Given the description of an element on the screen output the (x, y) to click on. 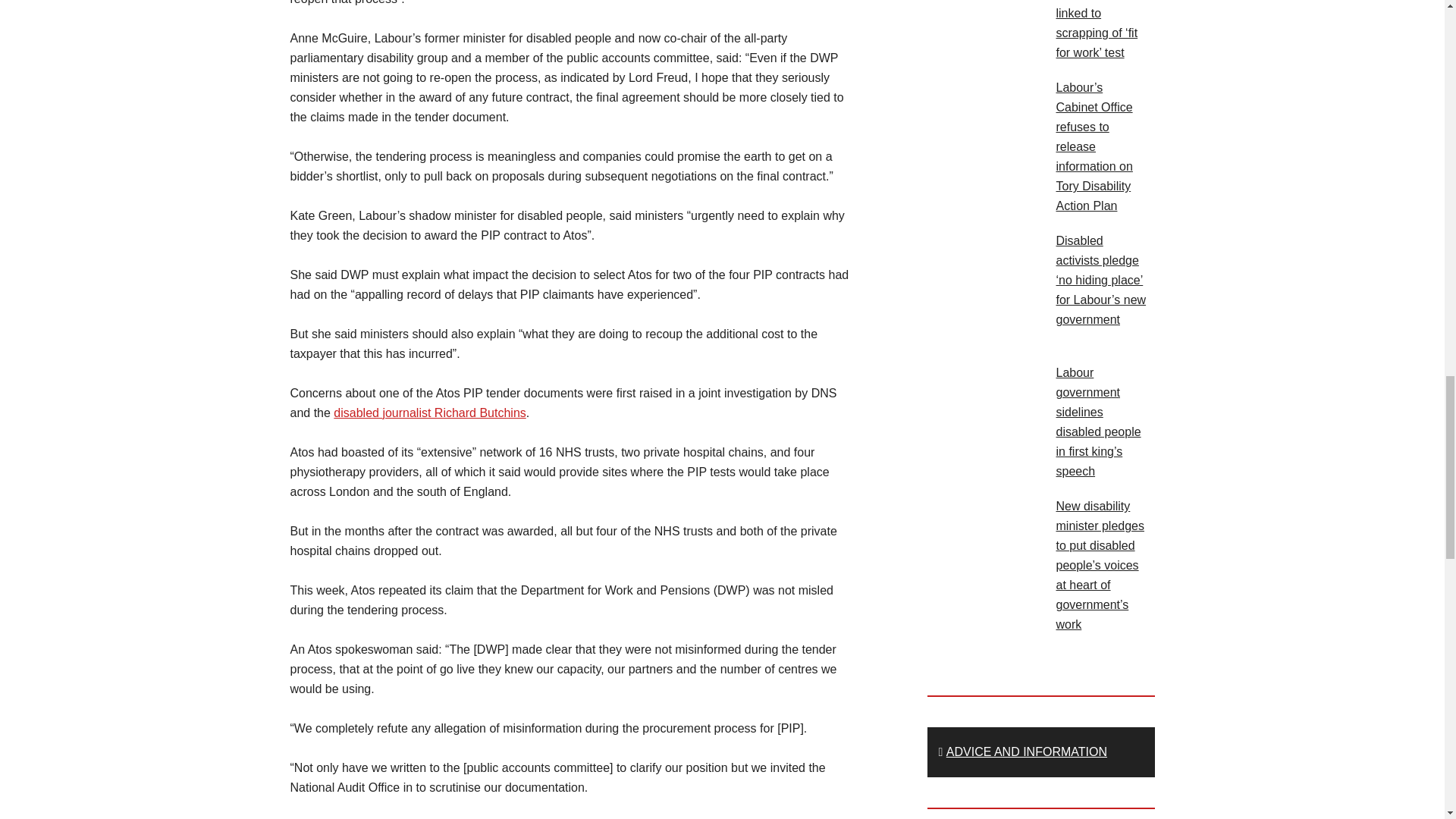
disabled journalist Richard Butchins (429, 412)
